Given the description of an element on the screen output the (x, y) to click on. 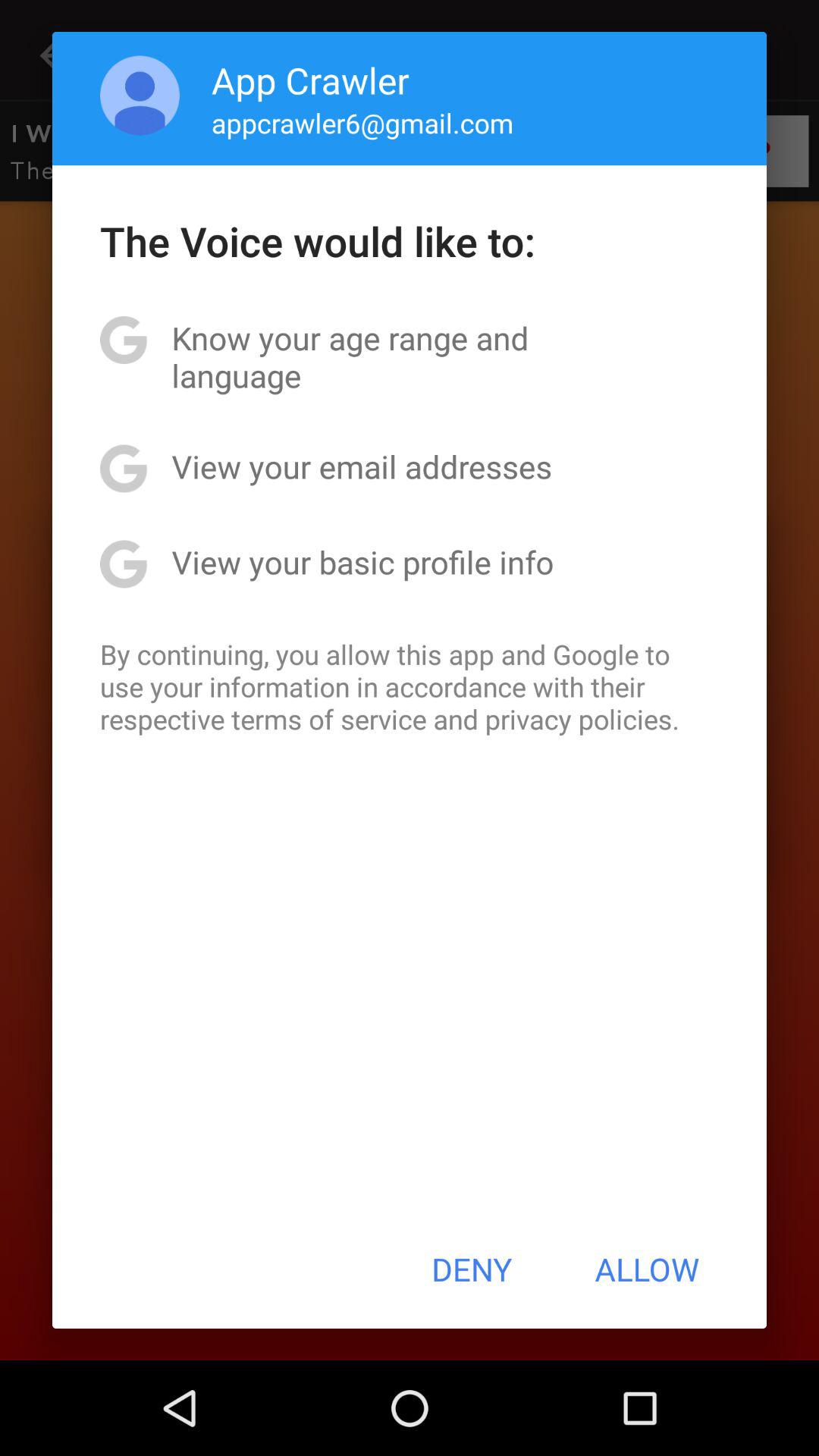
select app crawler item (310, 79)
